Given the description of an element on the screen output the (x, y) to click on. 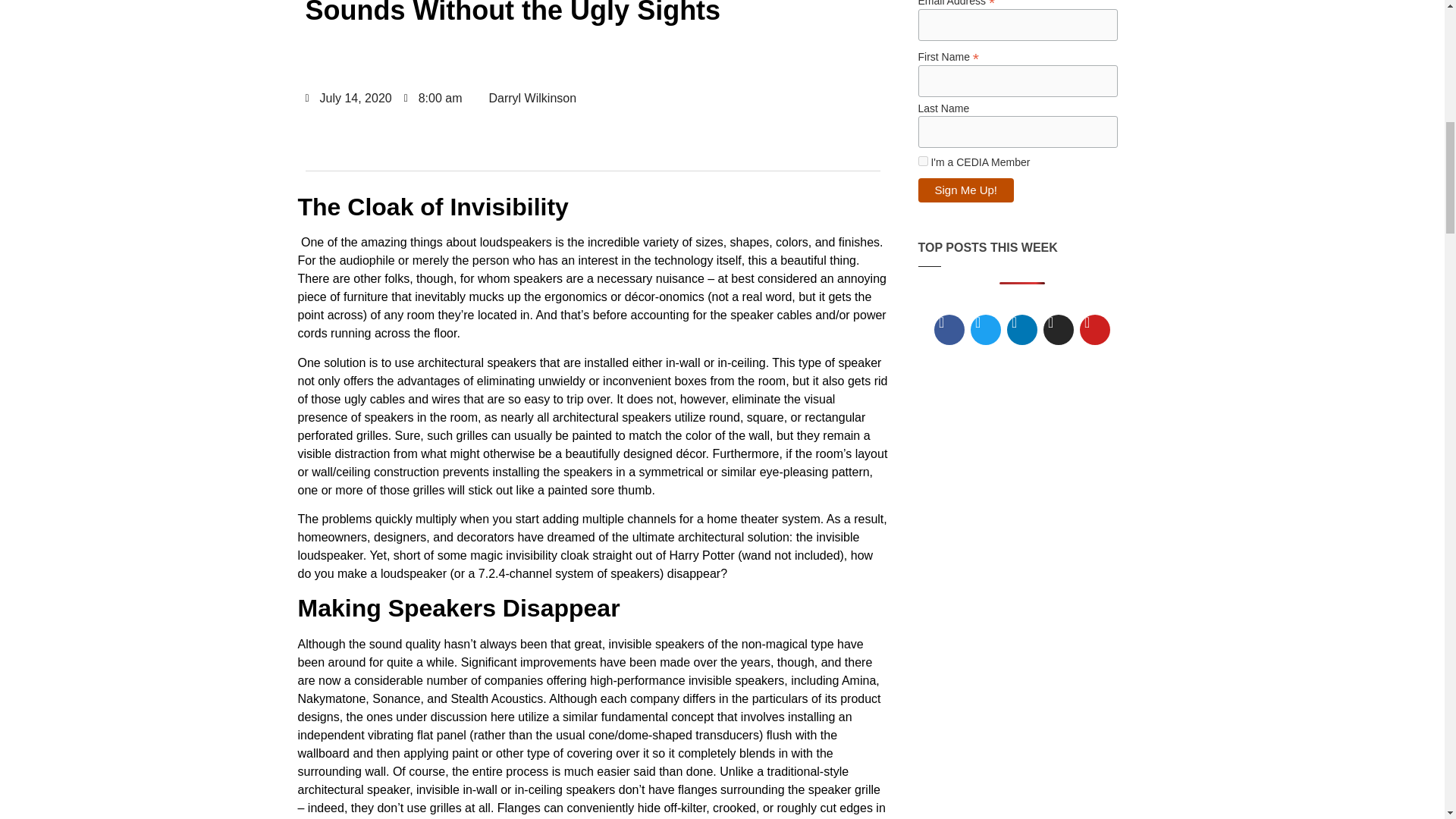
July 14, 2020 (347, 98)
Sign Me Up! (965, 190)
Darryl Wilkinson (525, 98)
e11e2e2e8f (922, 161)
